Given the description of an element on the screen output the (x, y) to click on. 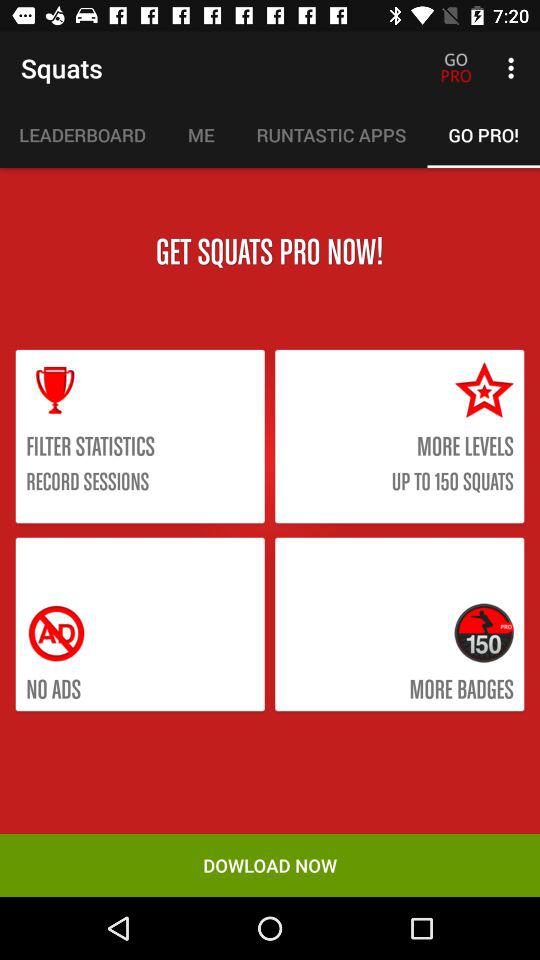
turn on item above the get squats pro (200, 135)
